Given the description of an element on the screen output the (x, y) to click on. 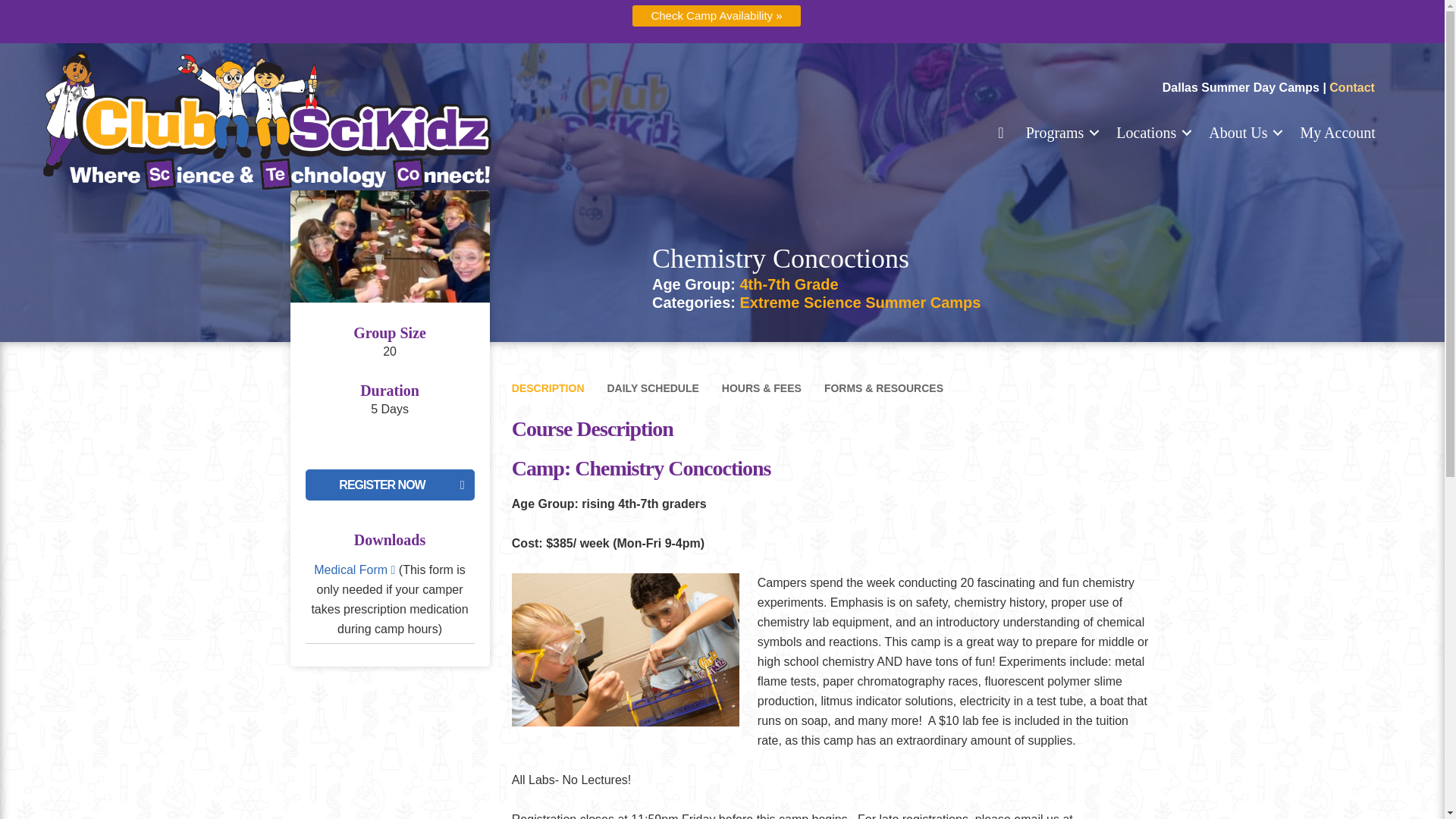
Programs (1059, 132)
4th-7th Grade (788, 284)
Contact (1351, 87)
Locations (1150, 132)
Extreme Science Summer Camps (860, 302)
About Us (1243, 132)
DAILY SCHEDULE (652, 387)
DESCRIPTION (548, 387)
Medical Form  (354, 569)
My Account (1337, 132)
REGISTER NOW (389, 484)
